Given the description of an element on the screen output the (x, y) to click on. 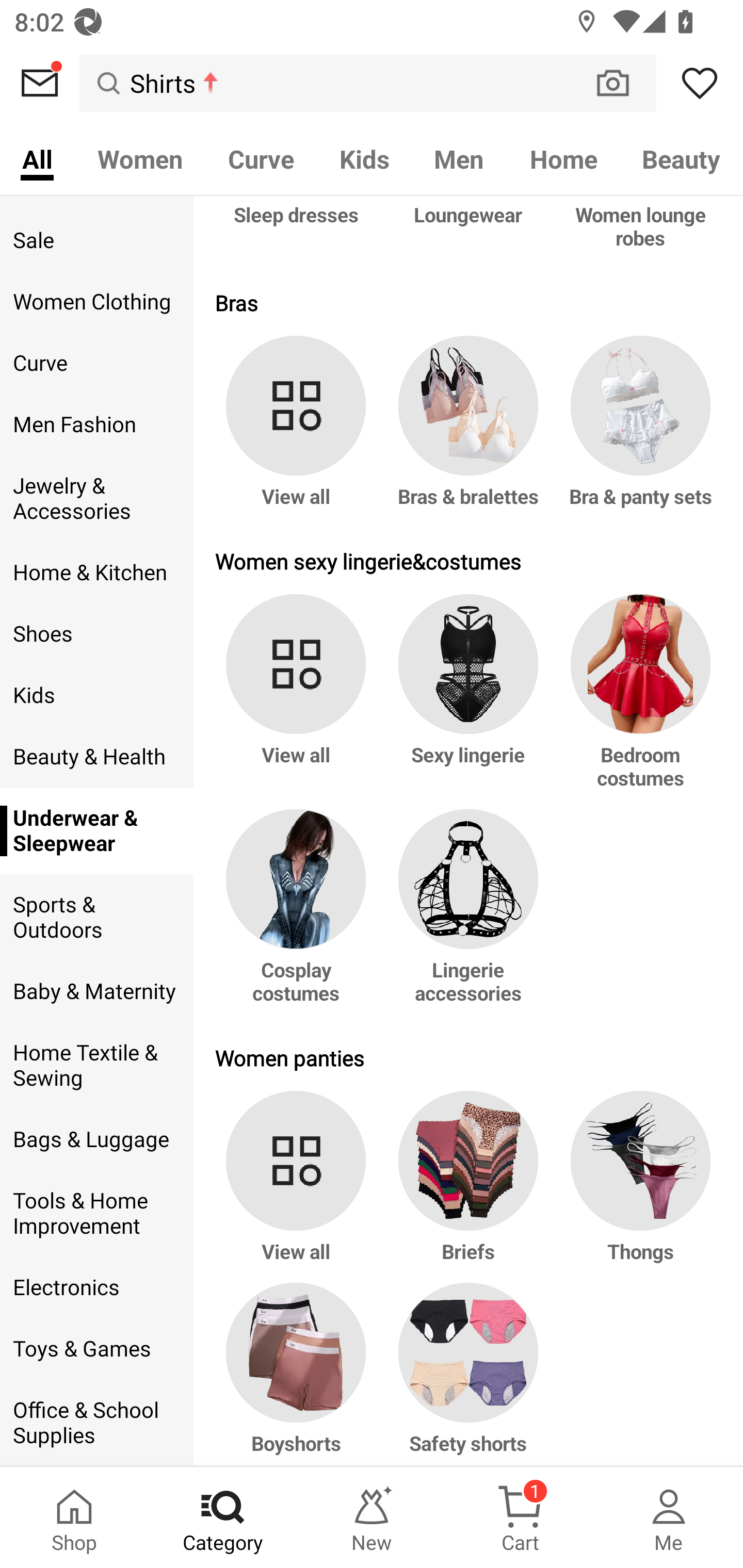
Wishlist (699, 82)
VISUAL SEARCH (623, 82)
All (37, 158)
Women (139, 158)
Curve (260, 158)
Kids (363, 158)
Men (458, 158)
Home (563, 158)
Beauty (681, 158)
Sale (96, 240)
Bras (468, 302)
Women Clothing (96, 301)
Curve (96, 362)
View all (299, 431)
Bras & bralettes (468, 431)
Bra & panty sets (636, 431)
Men Fashion (96, 423)
Jewelry & Accessories (96, 498)
Women sexy lingerie&costumes (468, 561)
Home & Kitchen (96, 572)
View all (299, 701)
Sexy lingerie (468, 701)
Bedroom costumes (636, 701)
Shoes (96, 633)
Kids (96, 694)
Beauty & Health (96, 756)
Underwear & Sleepwear (96, 830)
Cosplay costumes (299, 916)
Lingerie accessories (468, 916)
Sports & Outdoors (96, 917)
Baby & Maternity (96, 991)
Home Textile & Sewing (96, 1065)
Women panties (468, 1057)
View all (299, 1186)
Briefs (468, 1186)
Thongs (636, 1186)
Bags & Luggage (96, 1138)
Tools & Home Improvement (96, 1213)
Electronics (96, 1287)
Boyshorts (299, 1374)
Safety shorts (468, 1374)
Toys & Games (96, 1348)
Office & School Supplies (96, 1422)
Shop (74, 1517)
New (371, 1517)
Cart 1 Cart (519, 1517)
Me (668, 1517)
